Given the description of an element on the screen output the (x, y) to click on. 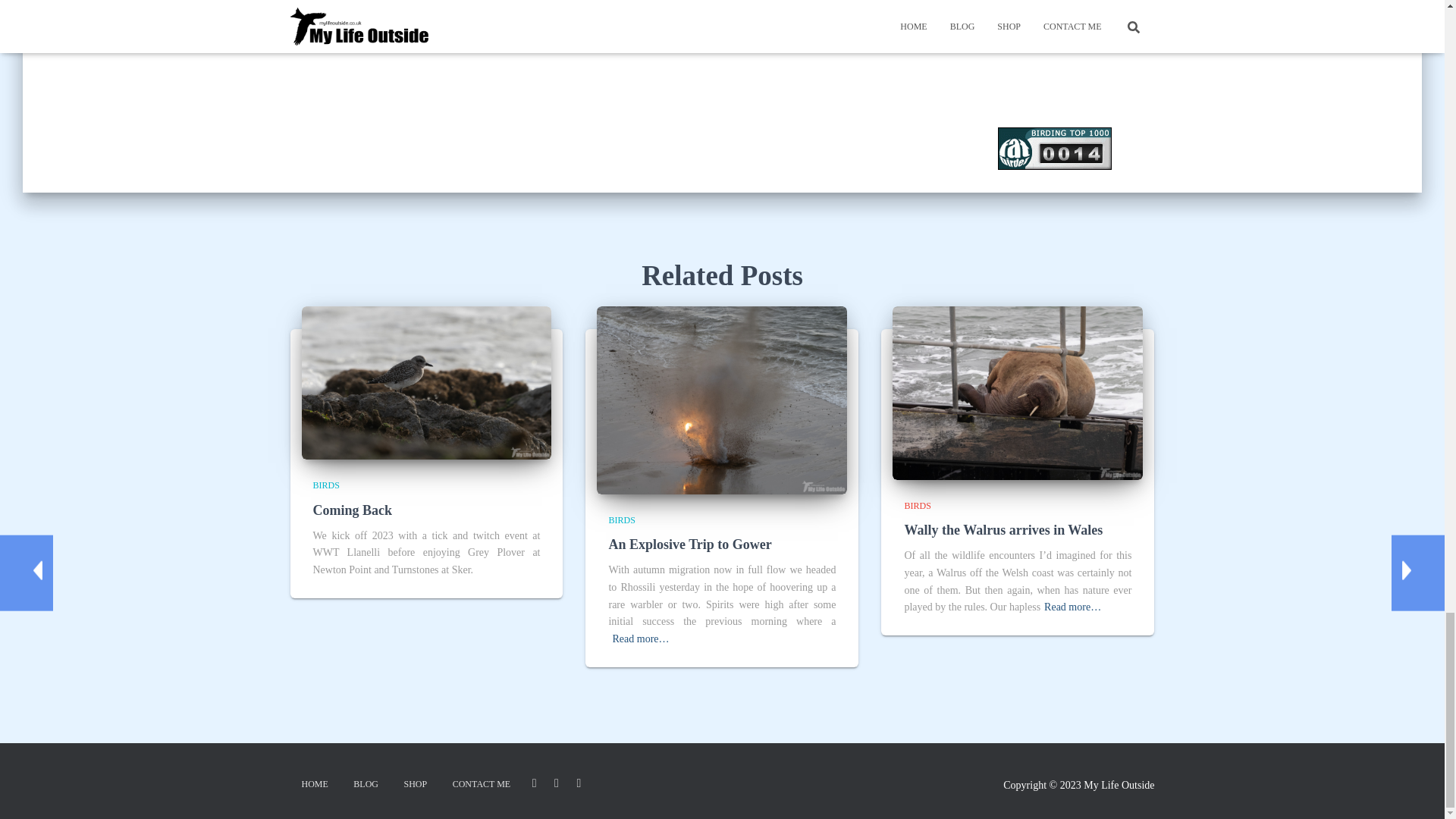
Coming Back (426, 382)
View all posts in Birds (326, 484)
Coming Back (352, 509)
An Explosive Trip to Gower (721, 398)
Wally the Walrus arrives in Wales (1017, 392)
View all posts in Birds (917, 505)
An Explosive Trip to Gower (689, 544)
View all posts in Birds (621, 520)
